Given the description of an element on the screen output the (x, y) to click on. 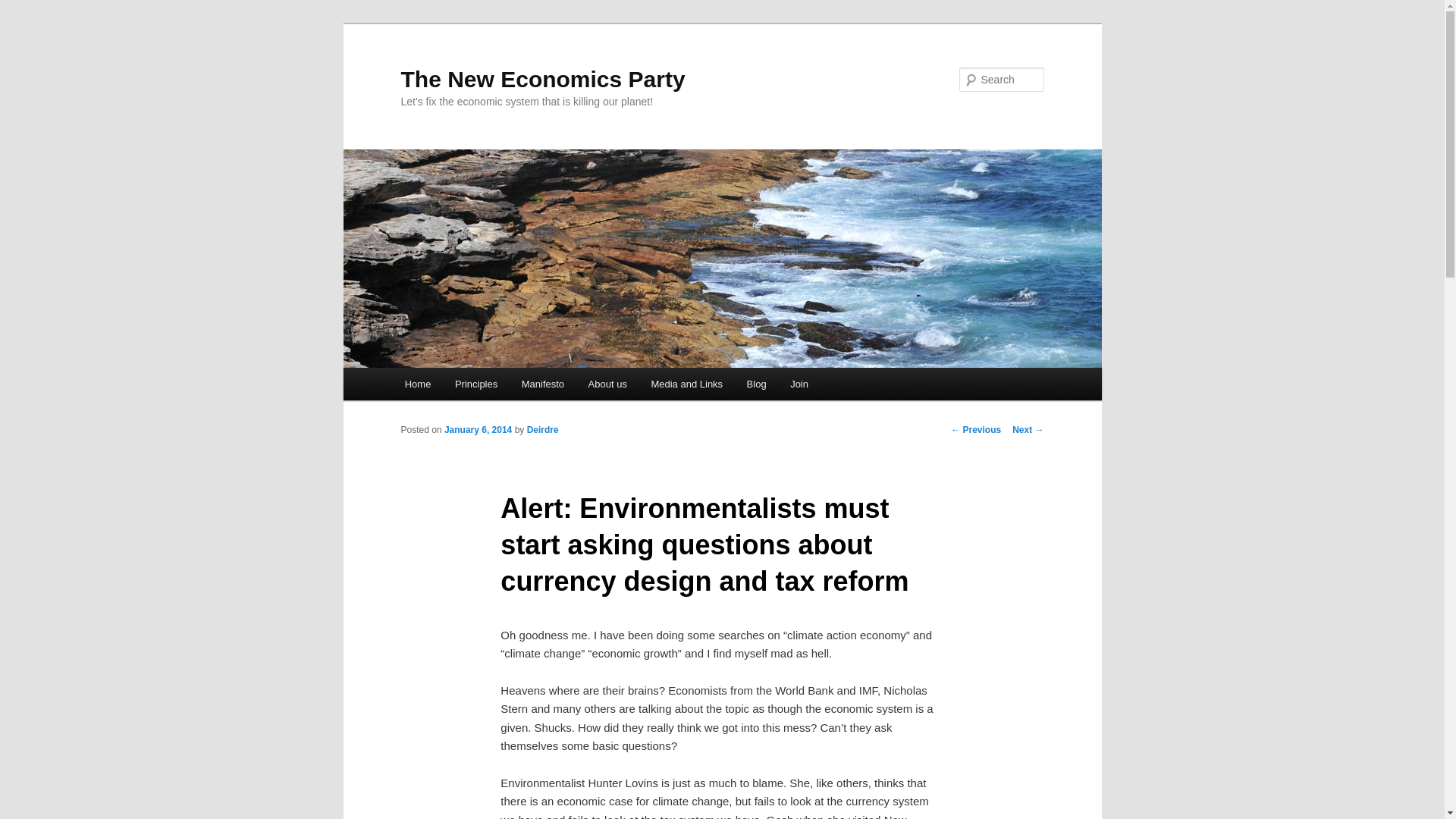
The New Economics Party (542, 78)
Search (24, 8)
Manifesto (542, 383)
View all posts by Deirdre (543, 429)
Principles (475, 383)
Home (417, 383)
2:18 am (478, 429)
